Given the description of an element on the screen output the (x, y) to click on. 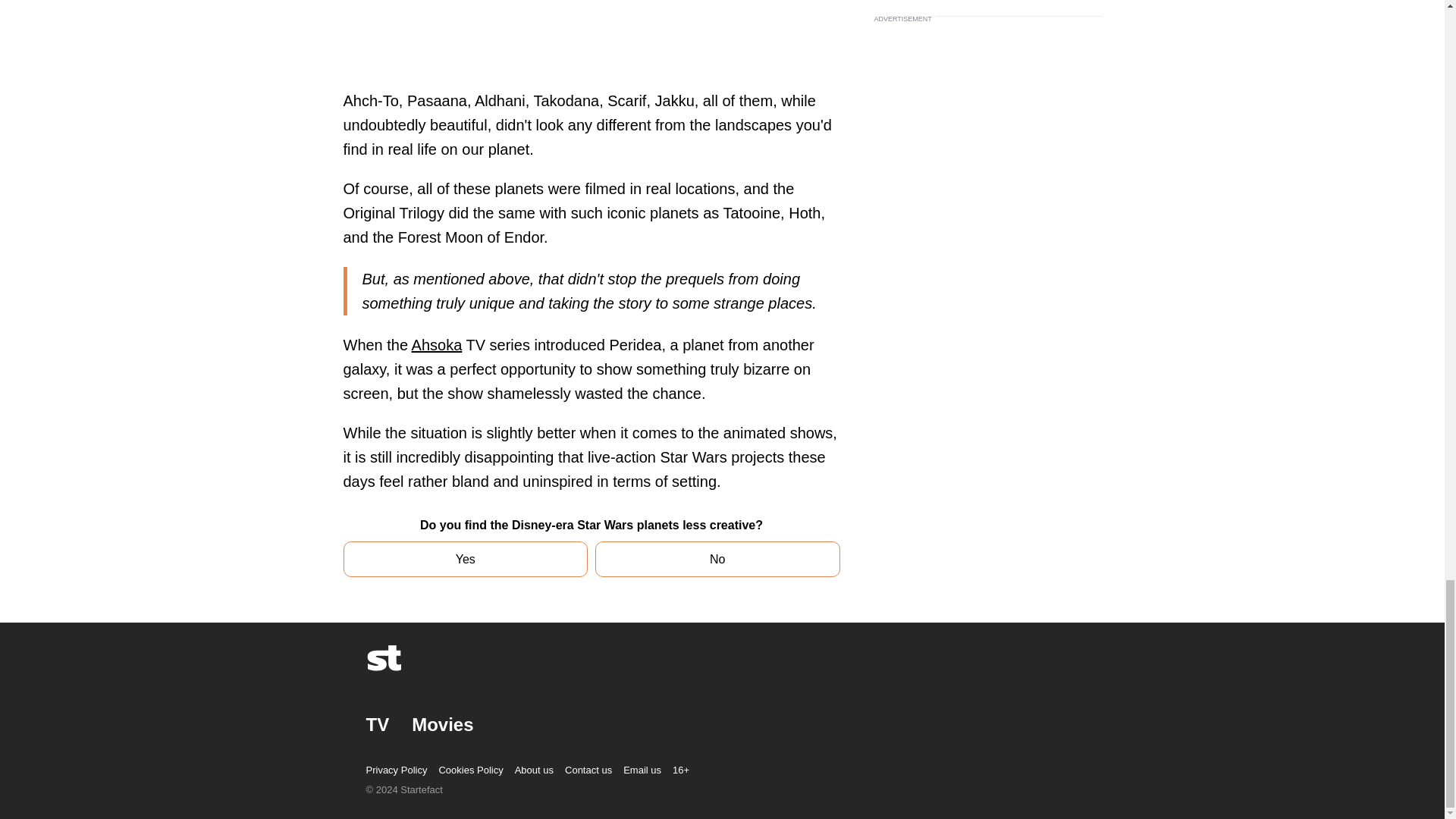
Ahsoka (437, 344)
Yes (465, 559)
No (717, 559)
